Given the description of an element on the screen output the (x, y) to click on. 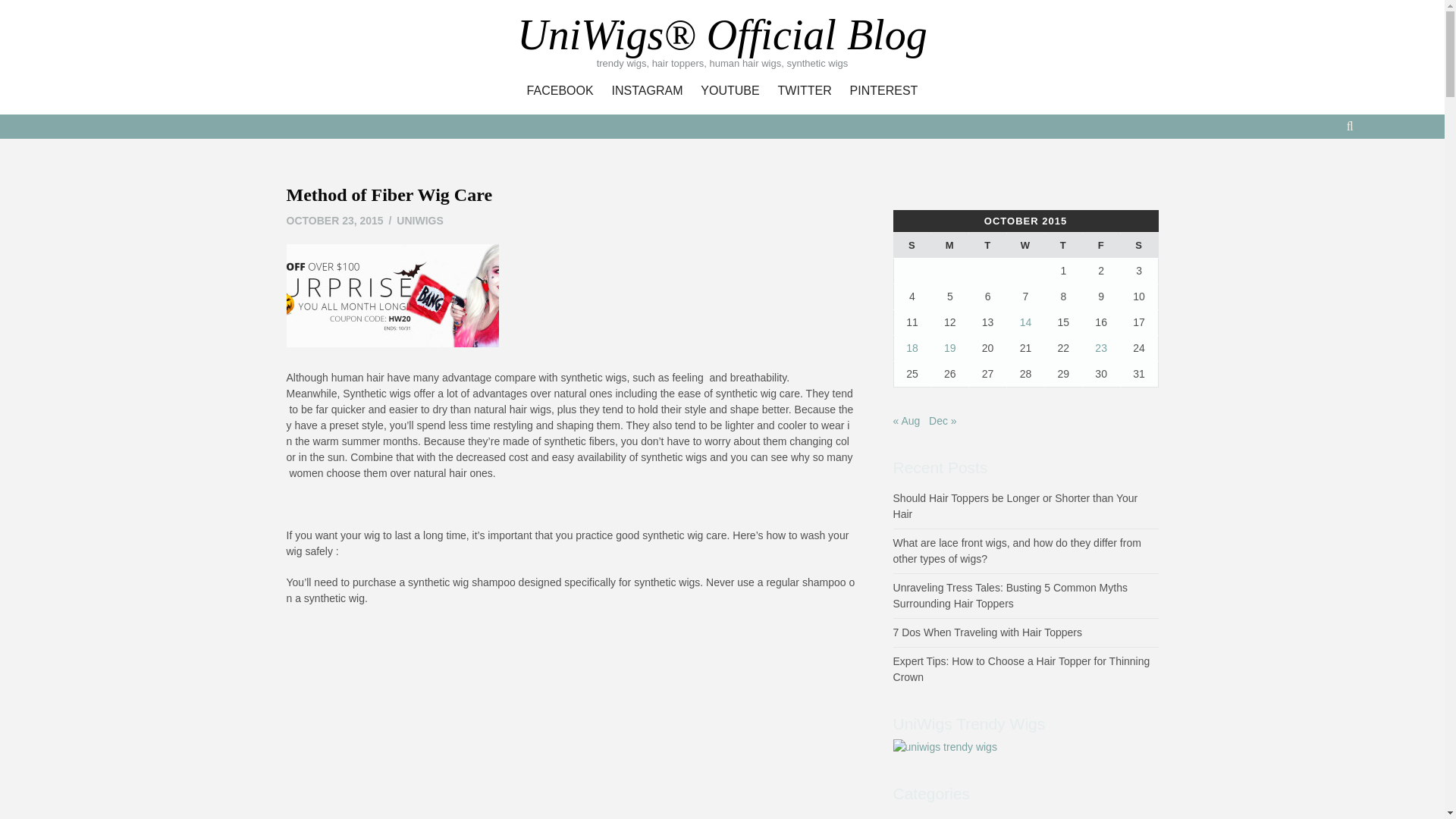
Sunday (912, 245)
TWITTER (805, 91)
Wednesday (1026, 245)
14 (1026, 322)
Should Hair Toppers be Longer or Shorter than Your Hair (1015, 506)
7 Dos When Traveling with Hair Toppers (988, 632)
18 (911, 347)
19 (949, 347)
Monday (950, 245)
Thursday (1062, 245)
Saturday (1138, 245)
Tuesday (988, 245)
23 (1100, 347)
